Given the description of an element on the screen output the (x, y) to click on. 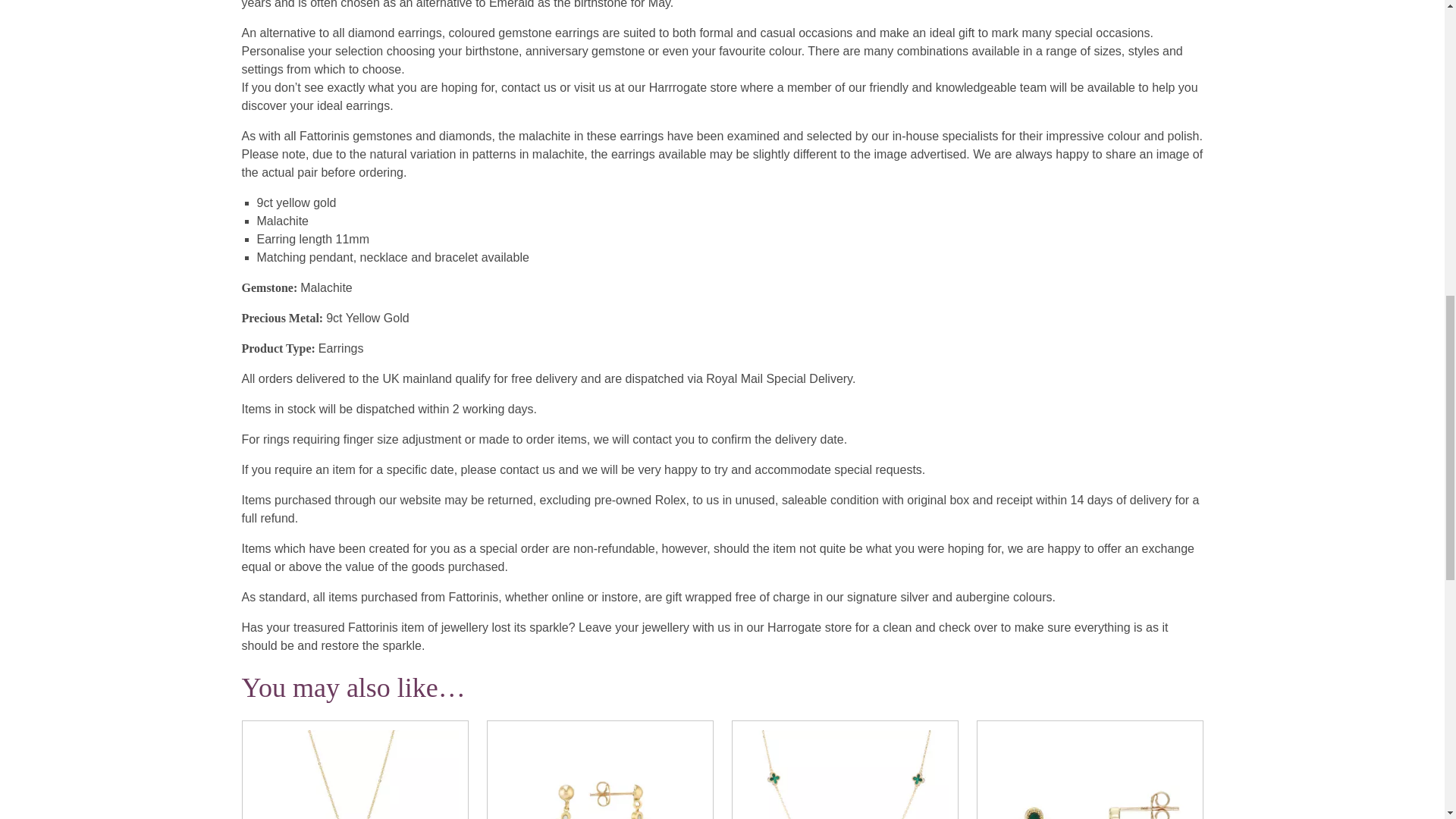
Malachite and Yellow Gold Clover Motif Pendant (354, 774)
Mother-of-Pearl and Yellow Gold Clover Motif Drop Earrings (599, 774)
Malachite and Yellow Gold Clover Motif Necklace (845, 774)
Malachite and Yellow Gold Clover Motif Stud Earrings (1088, 774)
